Given the description of an element on the screen output the (x, y) to click on. 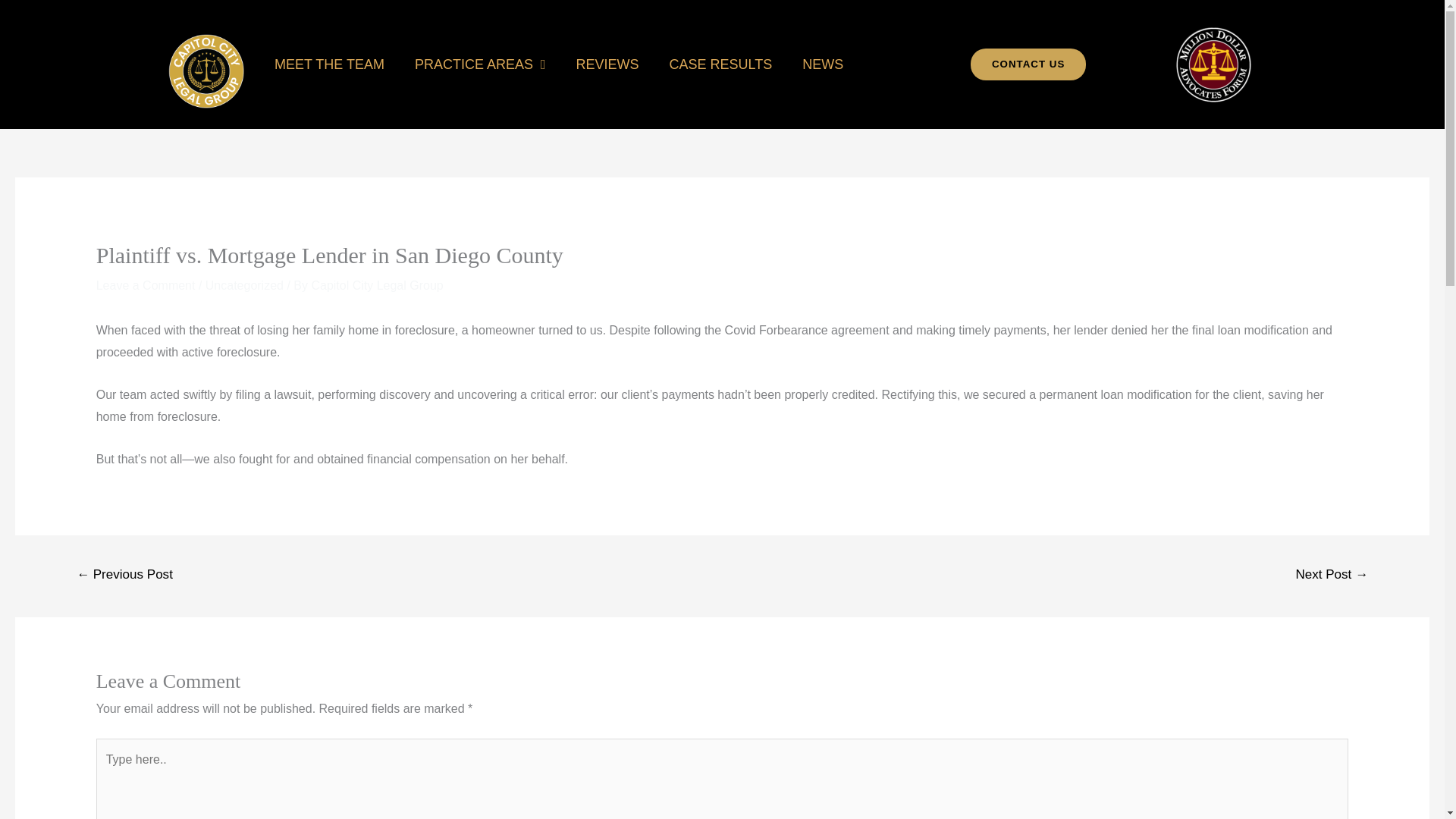
View all posts by Capitol City Legal Group (376, 285)
REVIEWS (606, 63)
NEWS (823, 63)
PRACTICE AREAS (479, 63)
CONTACT US (1028, 63)
CASE RESULTS (720, 63)
MEET THE TEAM (328, 63)
